Given the description of an element on the screen output the (x, y) to click on. 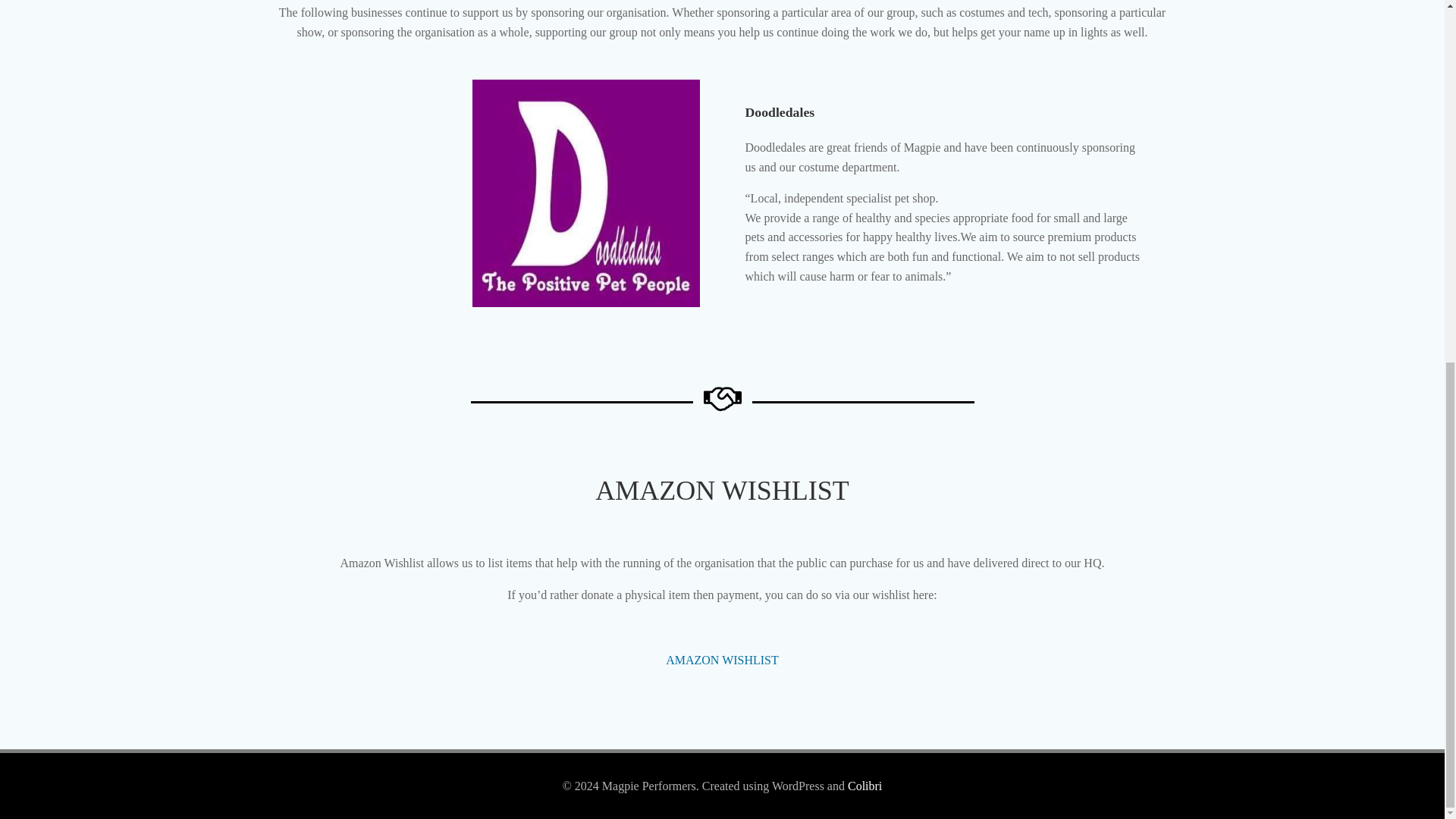
AMAZON WISHLIST (721, 660)
Colibri (864, 785)
